Given the description of an element on the screen output the (x, y) to click on. 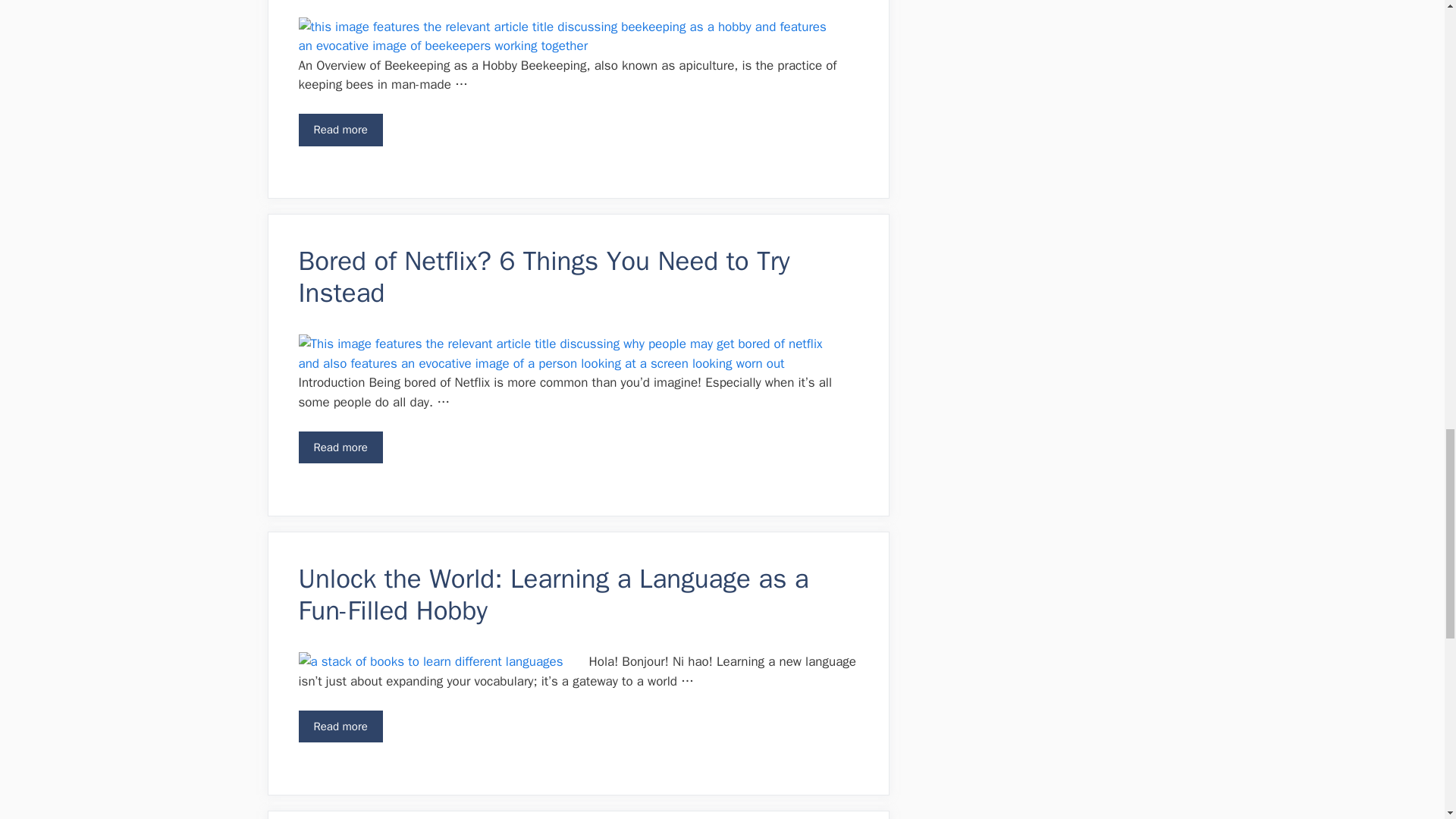
Read more (340, 129)
Bored of Netflix? 6 Things You Need to Try Instead (340, 447)
Unlock the World: Learning a Language as a Fun-Filled Hobby (340, 726)
Bored of Netflix? 6 Things You Need to Try Instead (544, 276)
